Given the description of an element on the screen output the (x, y) to click on. 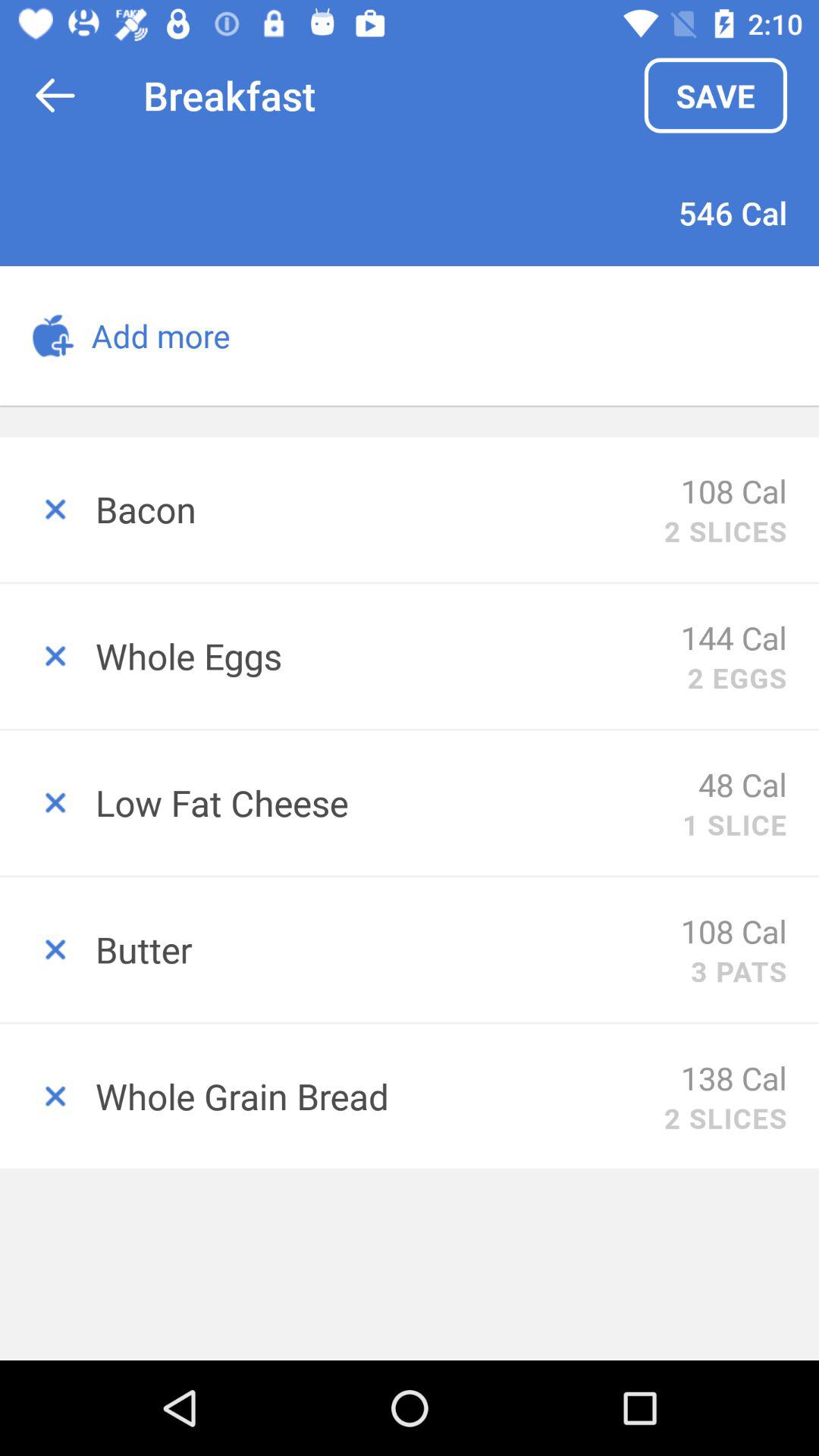
delete option (47, 509)
